Given the description of an element on the screen output the (x, y) to click on. 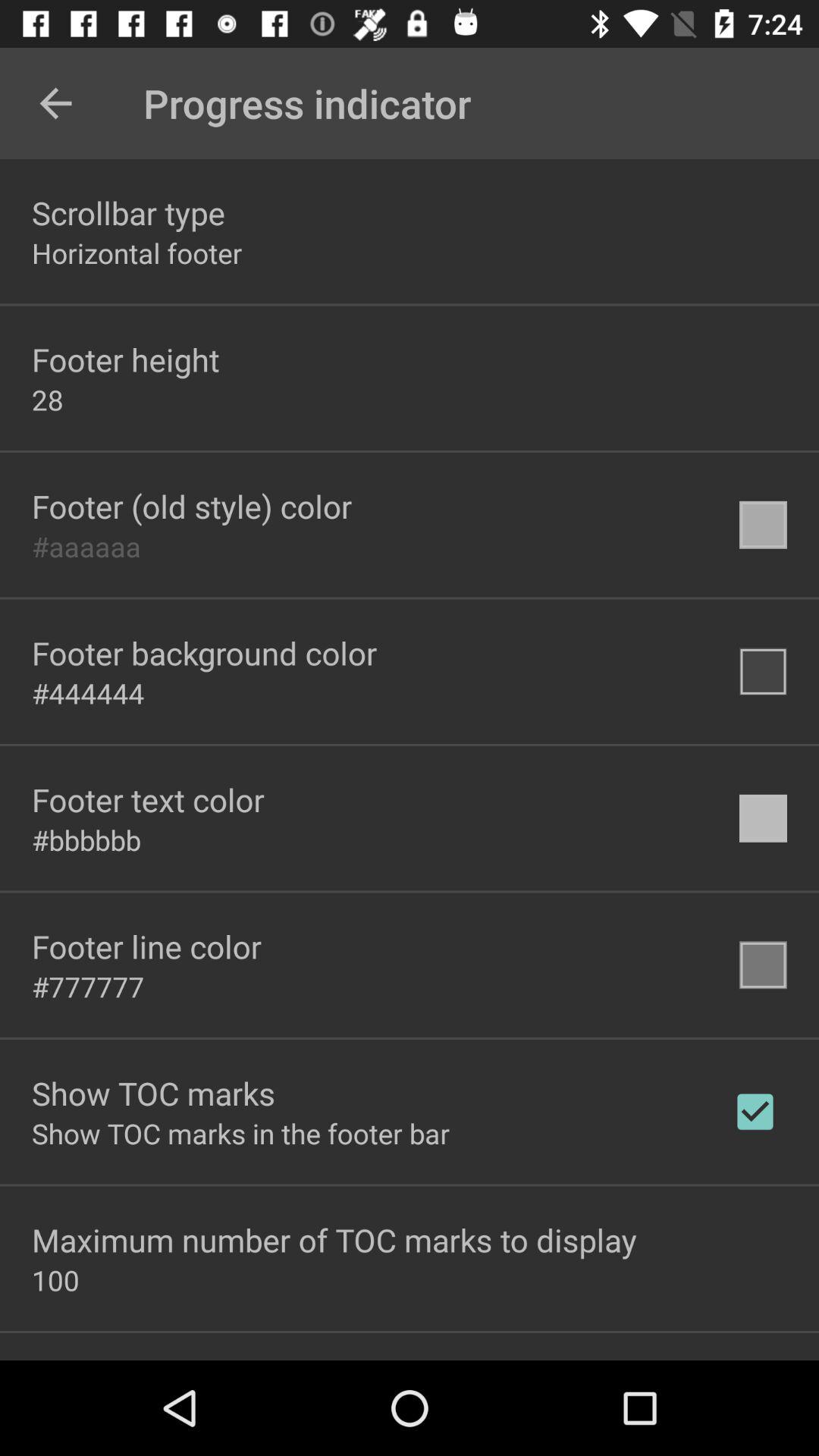
launch item above footer old style (47, 399)
